Given the description of an element on the screen output the (x, y) to click on. 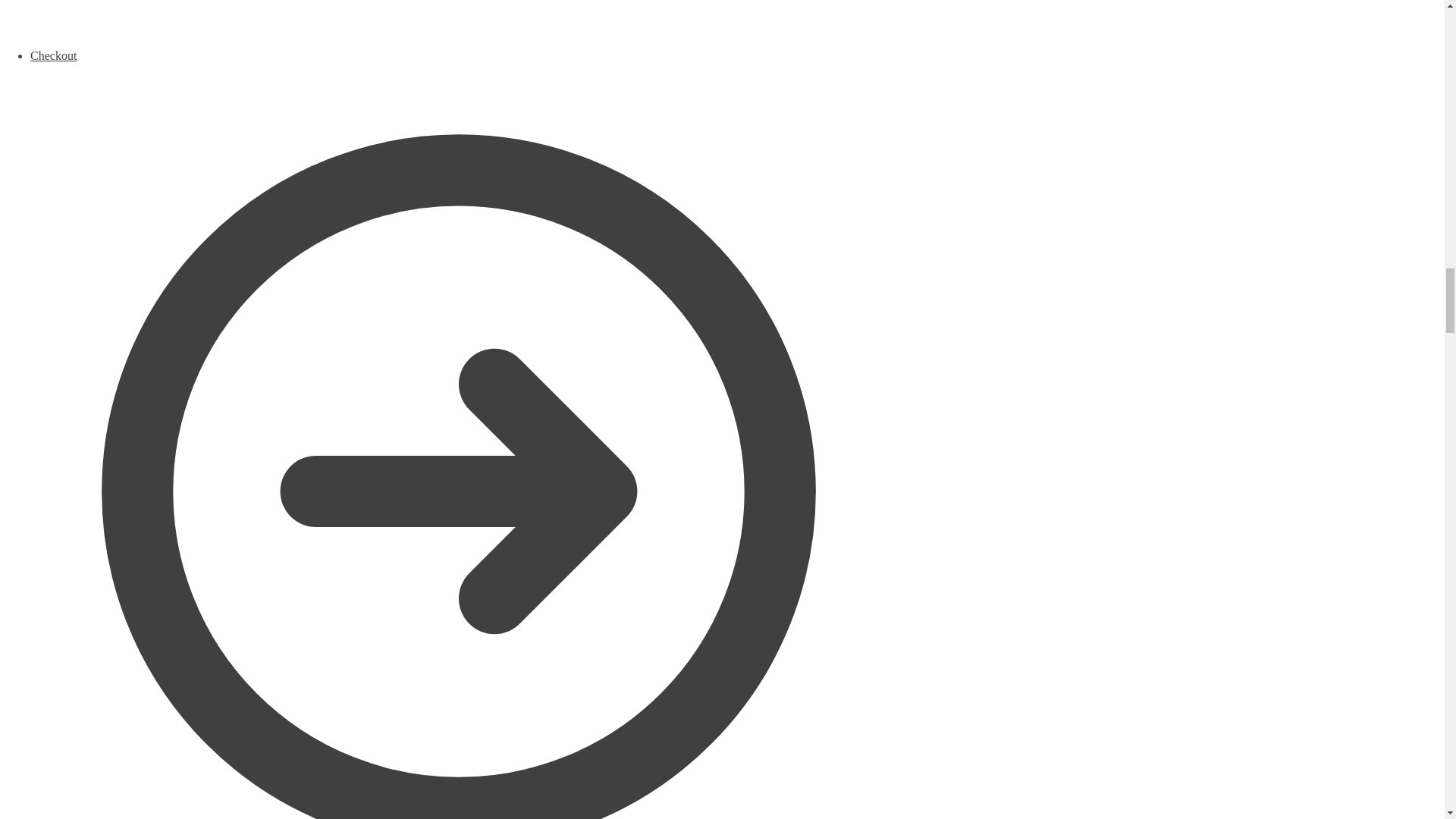
Customer Help (458, 24)
